Given the description of an element on the screen output the (x, y) to click on. 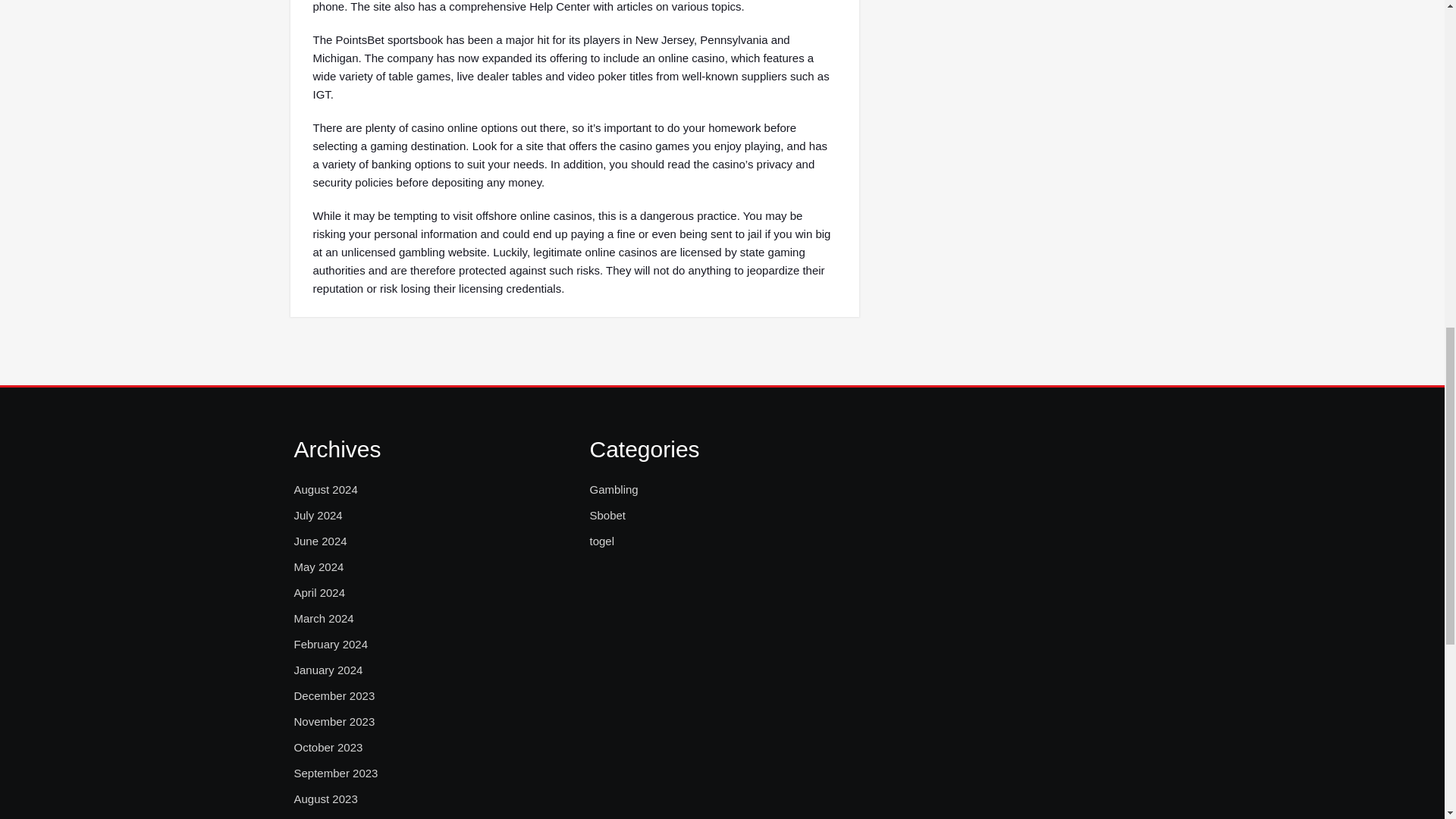
May 2024 (318, 566)
September 2023 (336, 773)
August 2024 (326, 489)
March 2024 (323, 618)
December 2023 (334, 696)
October 2023 (328, 747)
November 2023 (334, 721)
June 2024 (320, 541)
July 2024 (318, 515)
January 2024 (328, 669)
July 2023 (318, 817)
August 2023 (326, 799)
February 2024 (331, 644)
April 2024 (320, 592)
